Given the description of an element on the screen output the (x, y) to click on. 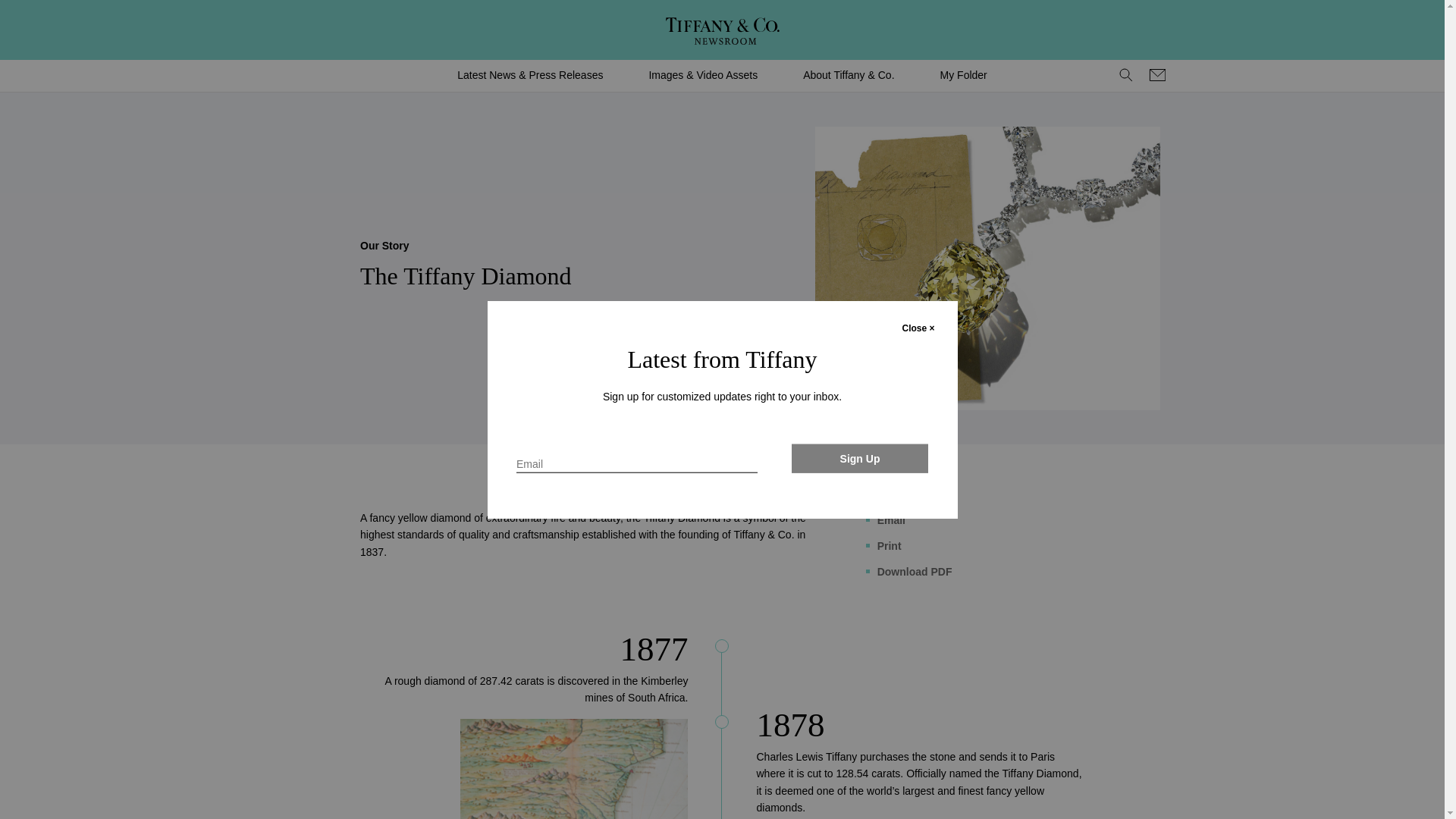
Sign Up (860, 457)
